Given the description of an element on the screen output the (x, y) to click on. 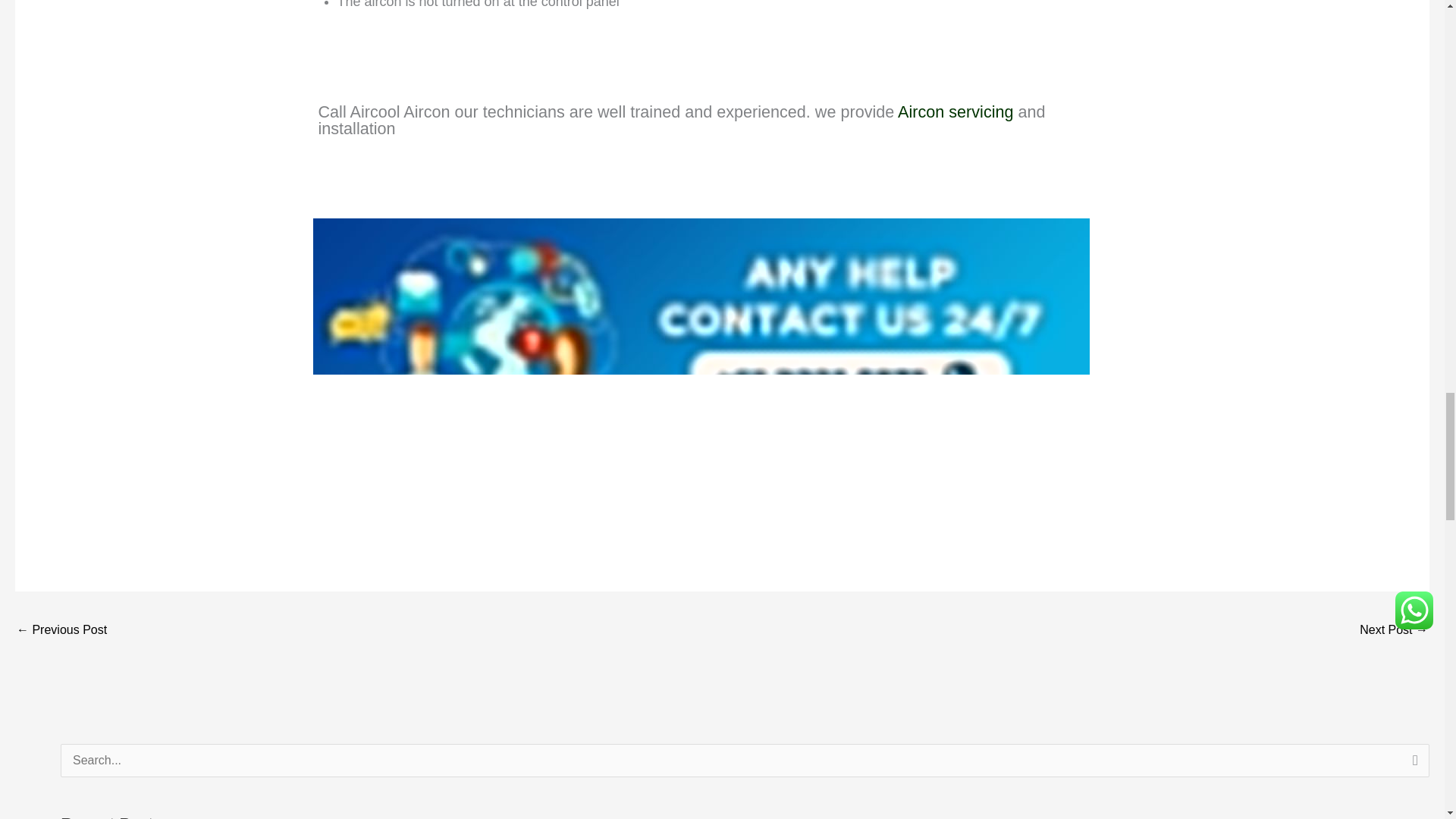
What is done during aircon servicing? (1393, 631)
7 Common Aircon Installation Mistakes To Avoid (61, 631)
Aircon servicing (955, 115)
Aircon servicing (955, 115)
